Given the description of an element on the screen output the (x, y) to click on. 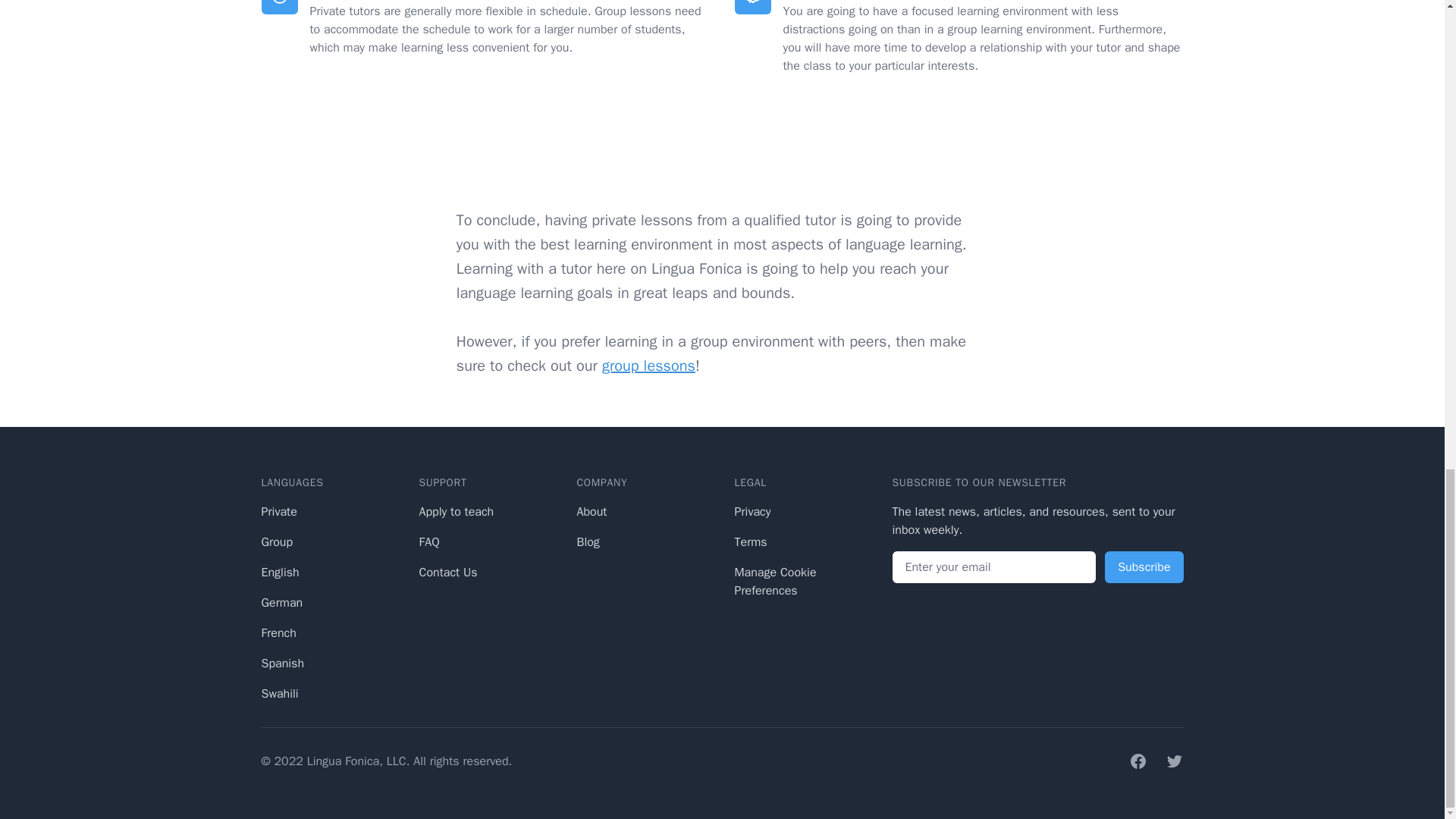
Terms (750, 541)
German (281, 602)
Blog (587, 541)
Privacy (751, 511)
FAQ (429, 541)
Manage Cookie Preferences (774, 581)
Swahili (279, 693)
group lessons (648, 365)
French (277, 632)
About (591, 511)
